Given the description of an element on the screen output the (x, y) to click on. 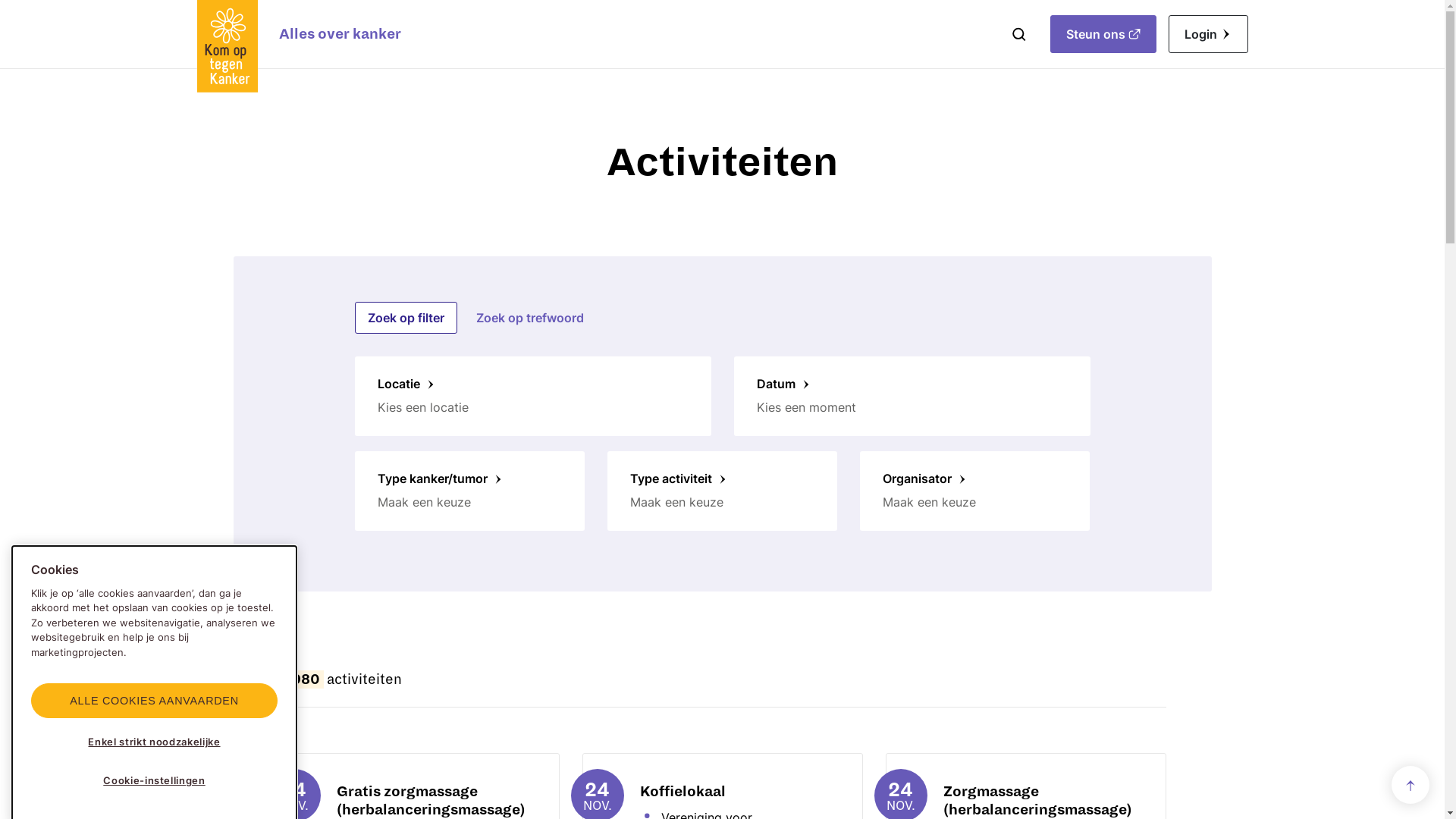
Zoeken Element type: text (1018, 34)
Alles over kanker Element type: text (340, 33)
Zoek op trefwoord Element type: text (529, 317)
Steun ons Element type: text (1102, 34)
Ga naar de homepage van Alles over kanker Element type: hover (227, 46)
Login Element type: text (1207, 34)
Scroll naar boven Element type: hover (1410, 785)
Zoek op filter Element type: text (405, 317)
